Given the description of an element on the screen output the (x, y) to click on. 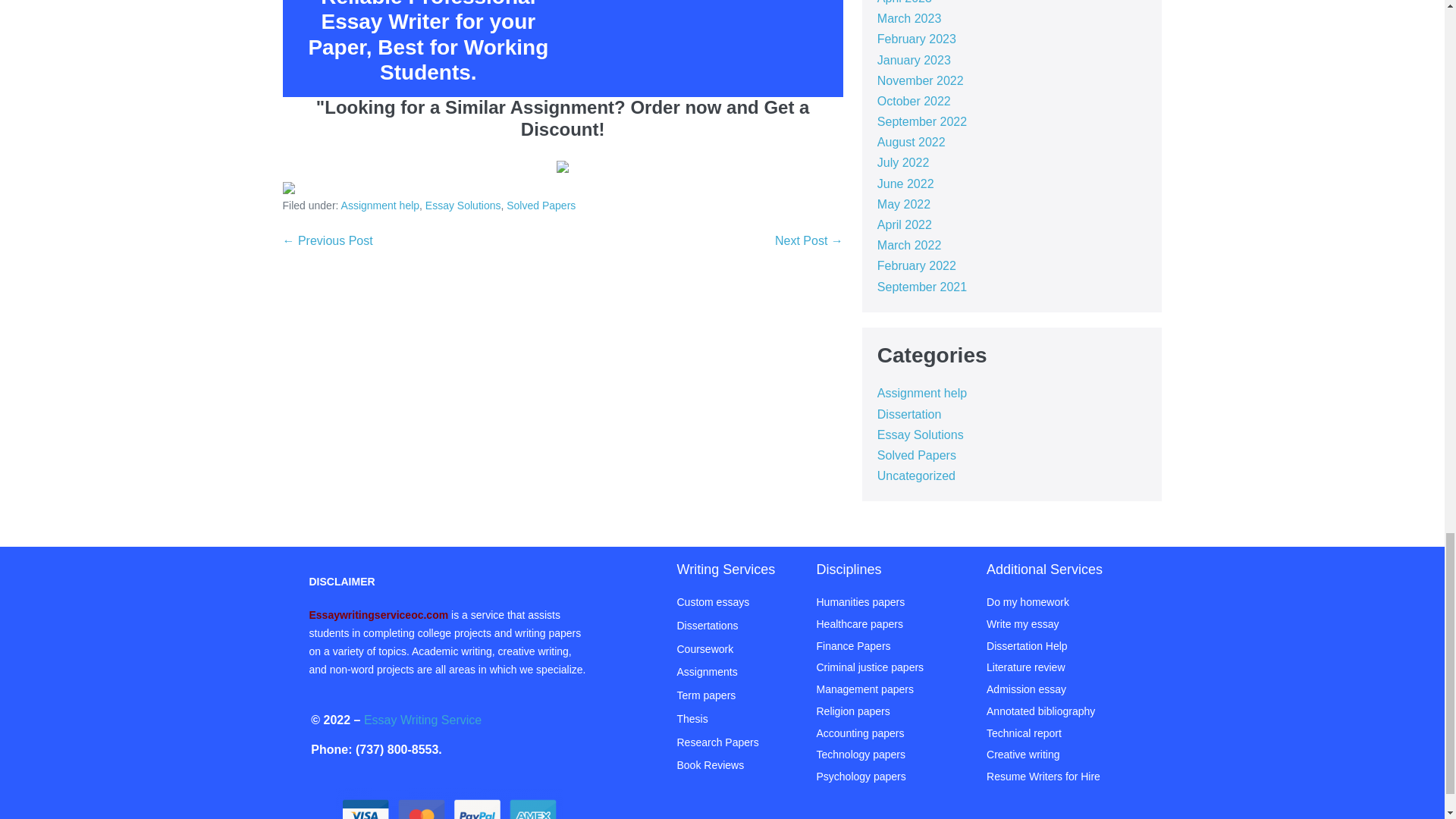
Solved Papers (540, 205)
March 2023 (909, 18)
Essay Solutions (462, 205)
April 2023 (904, 2)
Assignment help (380, 205)
